Given the description of an element on the screen output the (x, y) to click on. 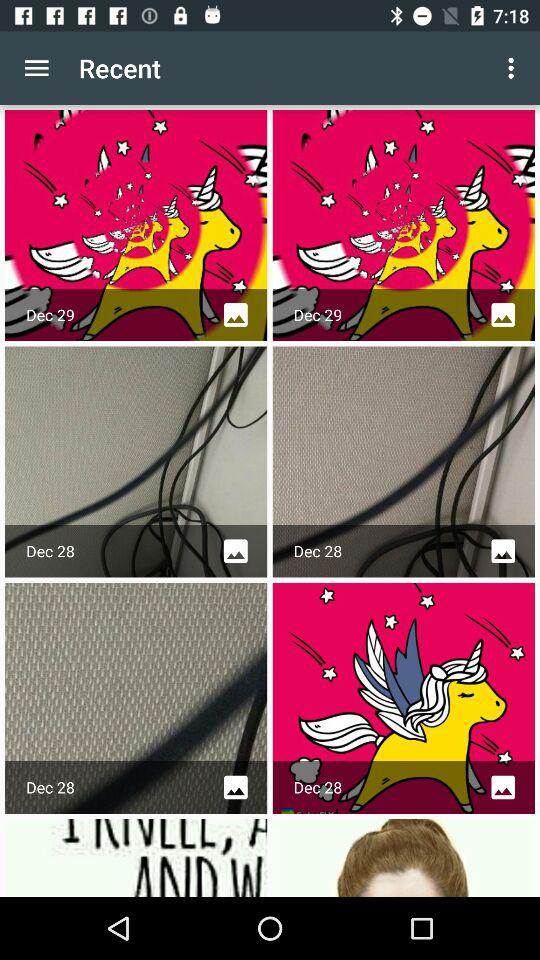
press the app next to recent item (36, 68)
